Given the description of an element on the screen output the (x, y) to click on. 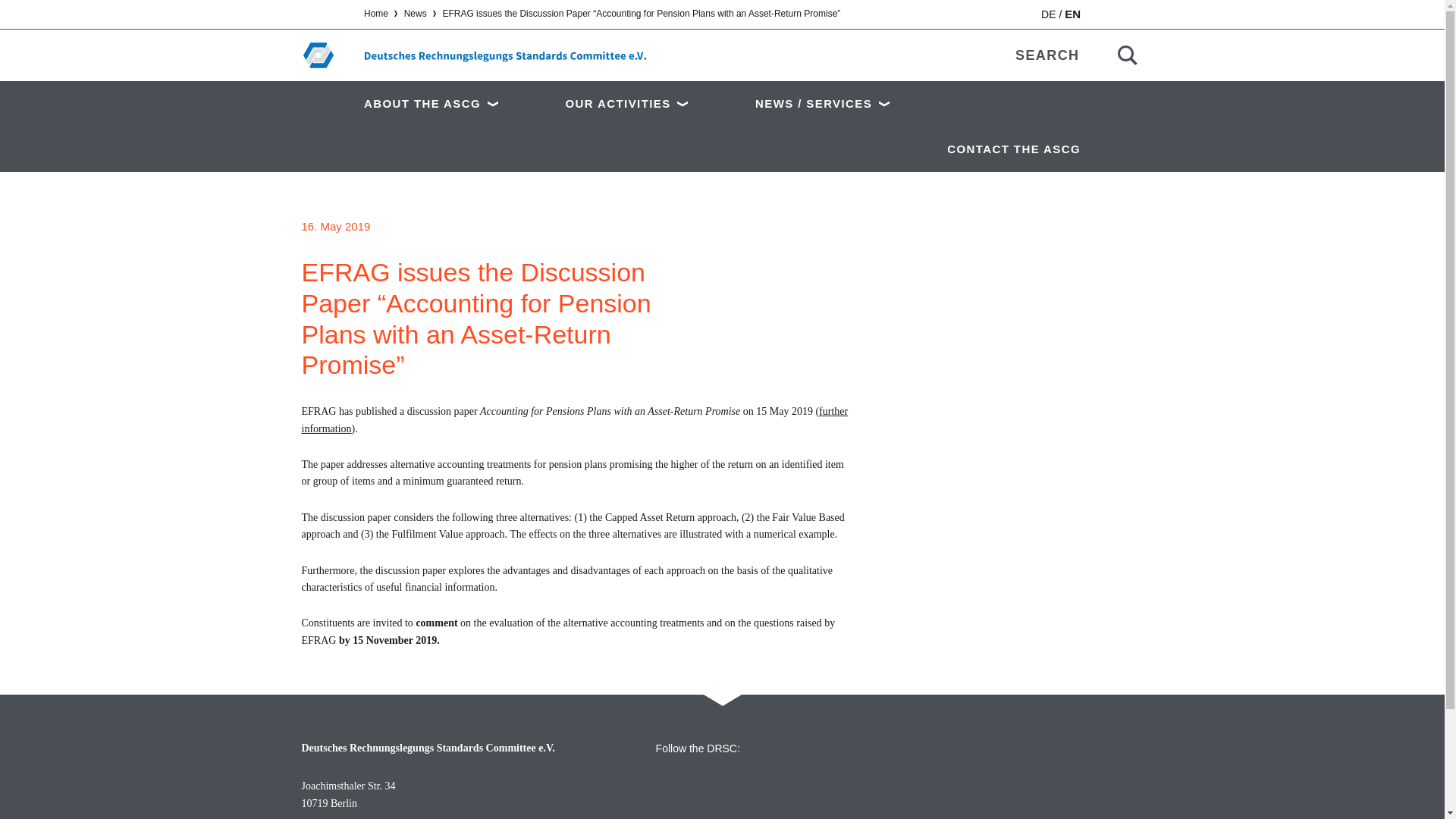
further information (574, 419)
Search (1127, 55)
News (415, 13)
Home (376, 13)
Search (1127, 55)
Search (1127, 55)
CONTACT THE ASCG (1005, 148)
OUR ACTIVITIES (644, 103)
ABOUT THE ASCG (455, 103)
